Given the description of an element on the screen output the (x, y) to click on. 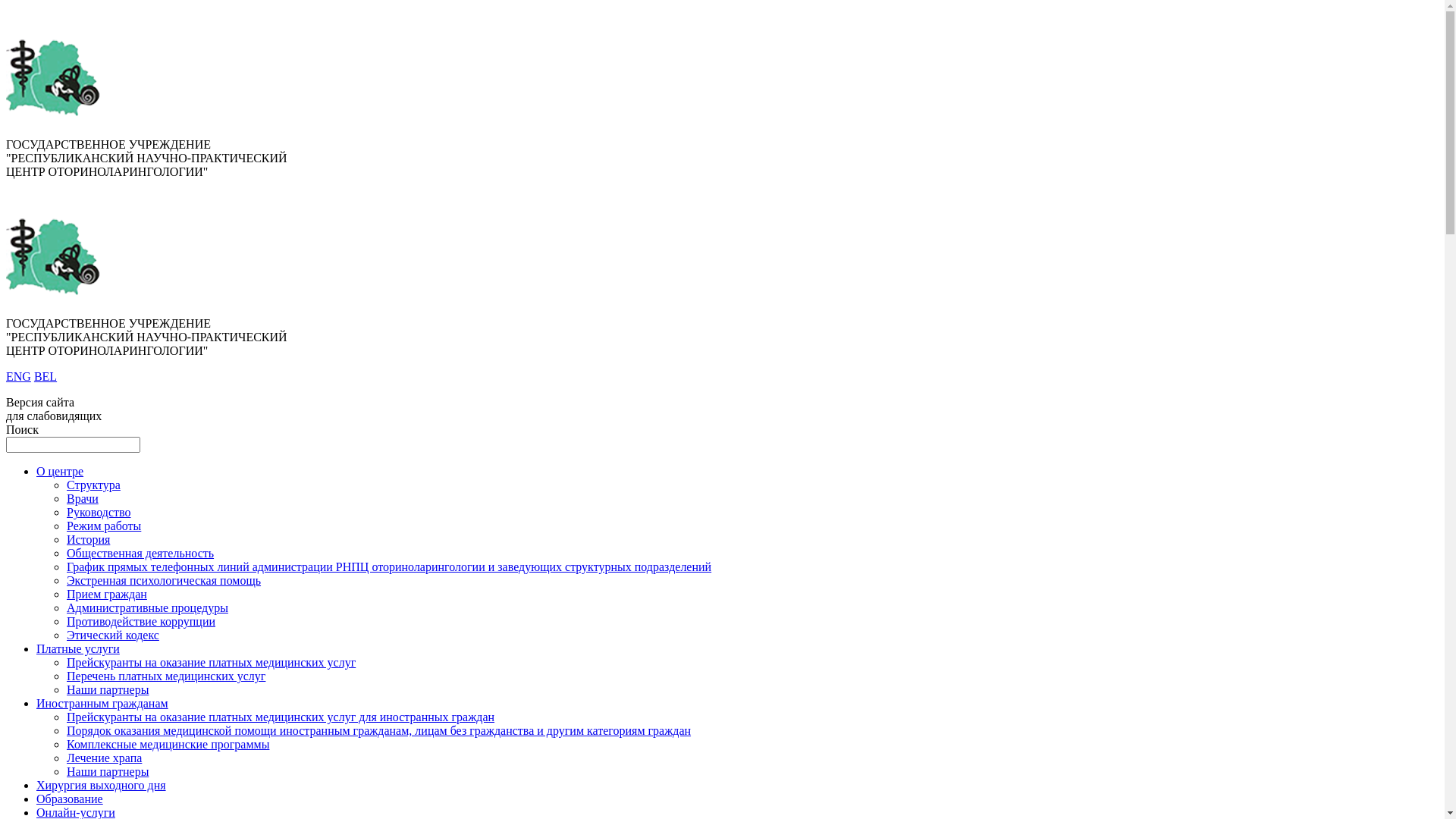
BEL Element type: text (45, 376)
ENG Element type: text (18, 376)
